Given the description of an element on the screen output the (x, y) to click on. 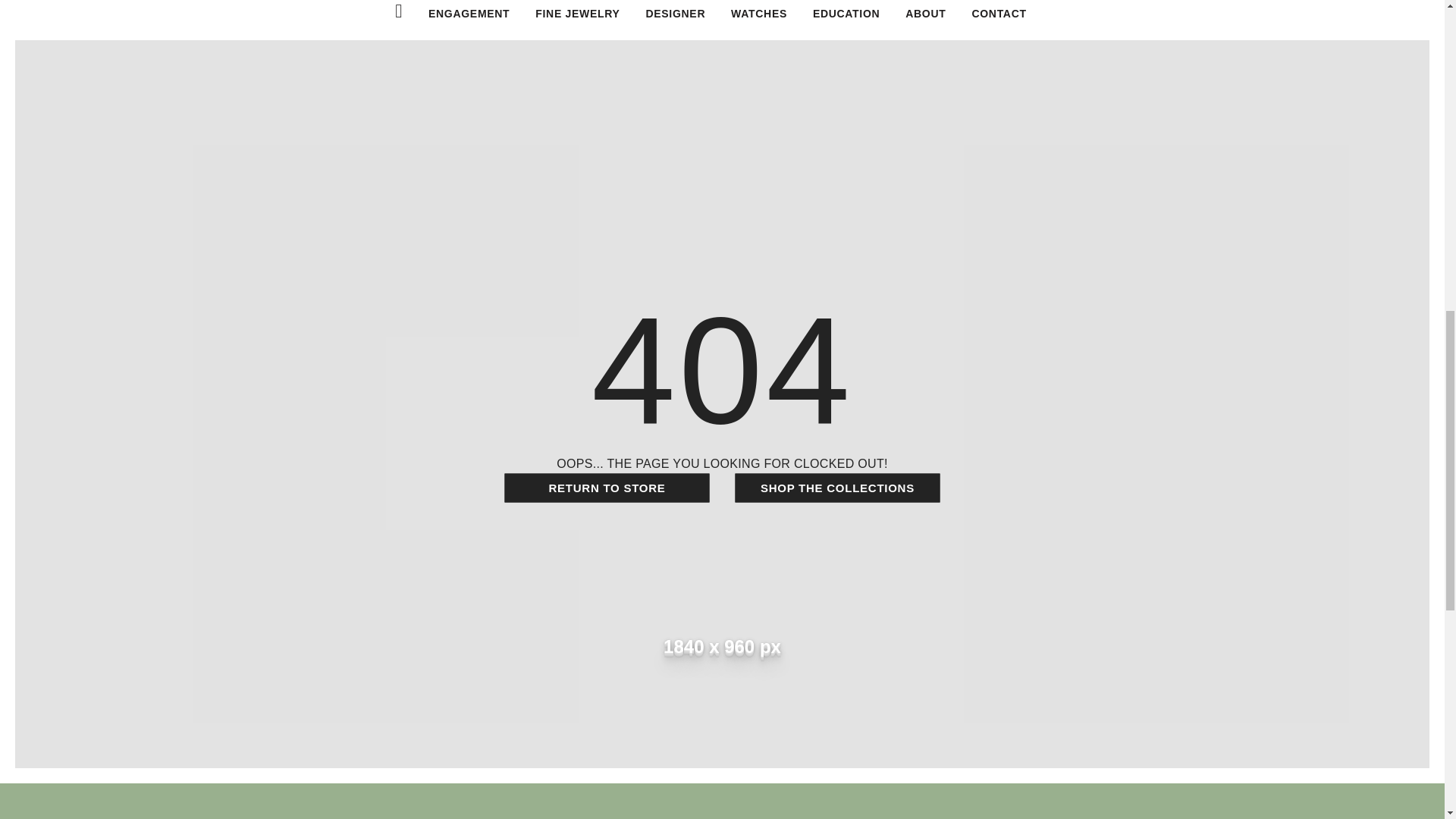
RETURN TO STORE (607, 487)
WATCHES (758, 14)
ENGAGEMENT (468, 14)
SHOP THE COLLECTIONS (837, 487)
FINE JEWELRY (577, 14)
CONTACT (998, 14)
DESIGNER (674, 14)
EDUCATION (845, 14)
ABOUT (924, 14)
